Given the description of an element on the screen output the (x, y) to click on. 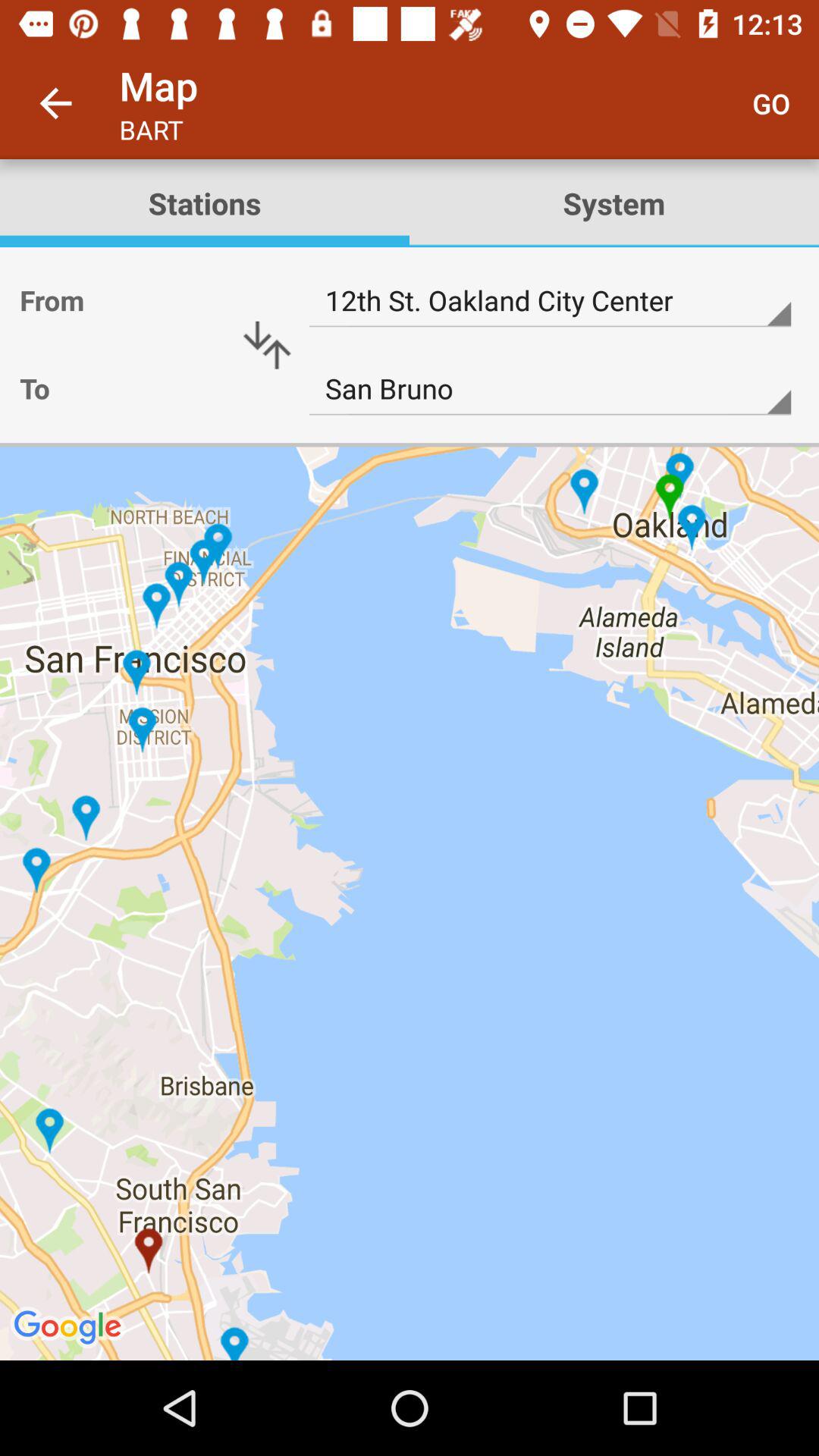
turn off the item next to the stations icon (614, 203)
